Given the description of an element on the screen output the (x, y) to click on. 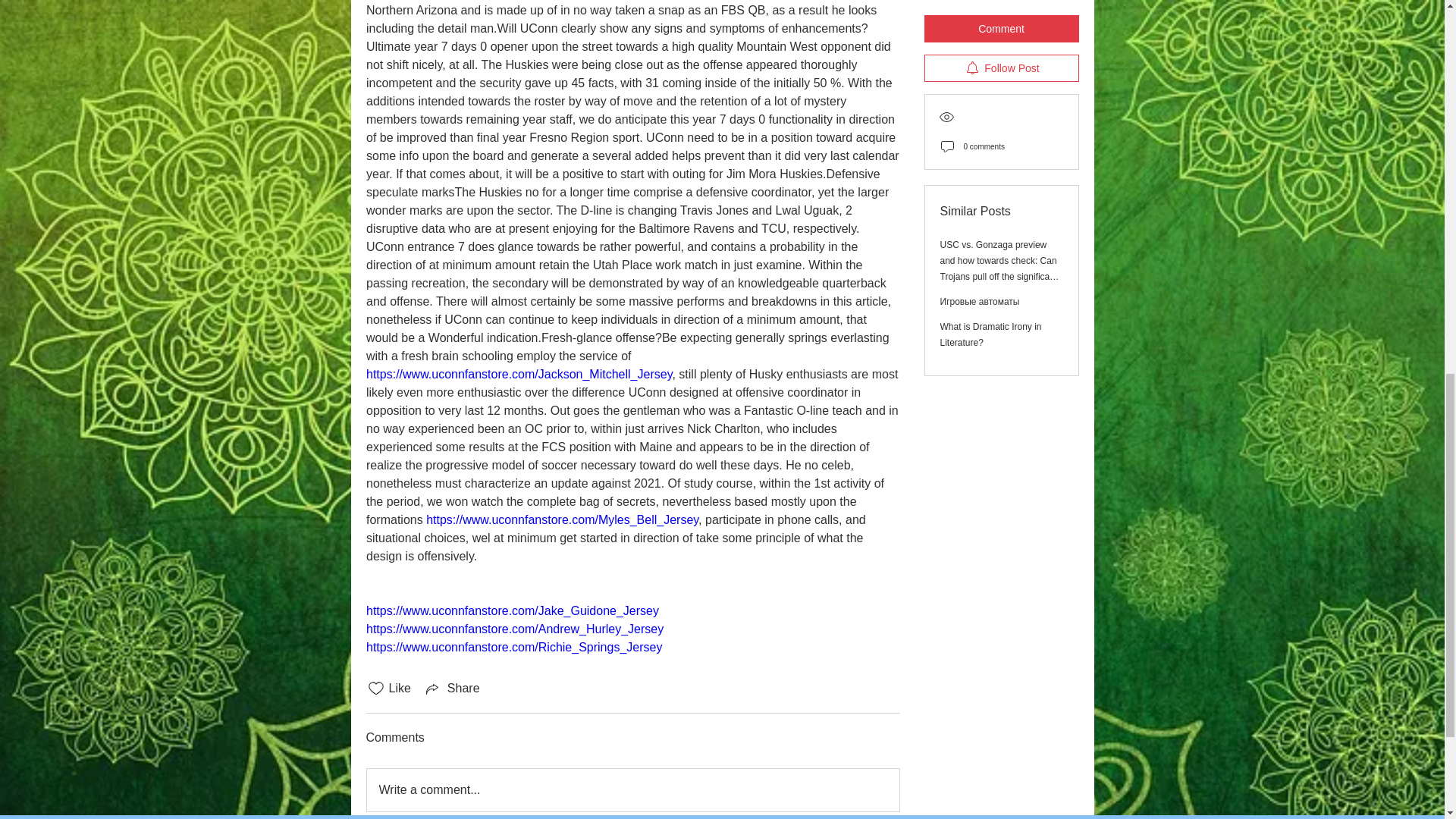
Share (451, 688)
Write a comment... (632, 790)
